Given the description of an element on the screen output the (x, y) to click on. 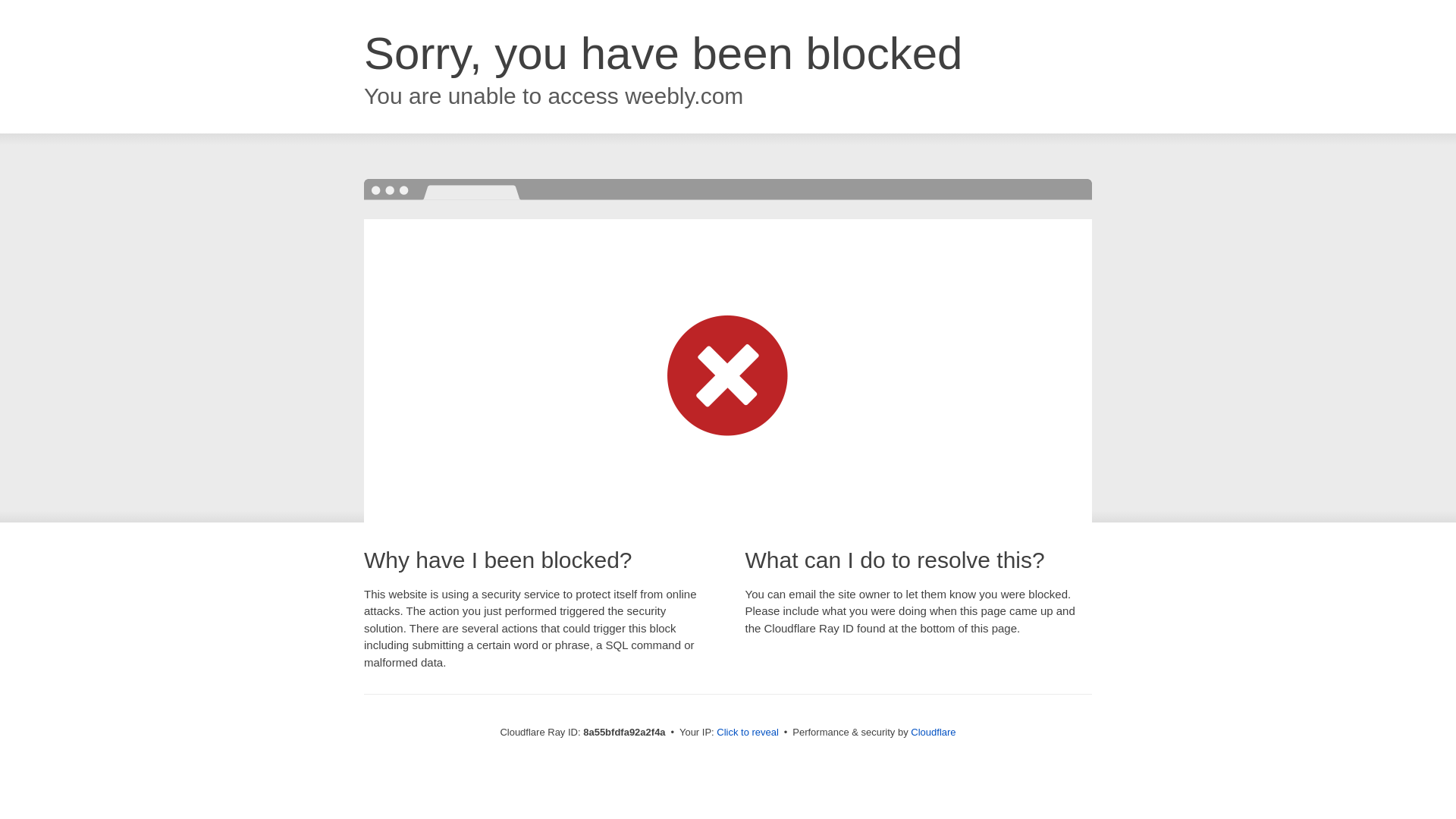
Click to reveal (747, 732)
Cloudflare (933, 731)
